Given the description of an element on the screen output the (x, y) to click on. 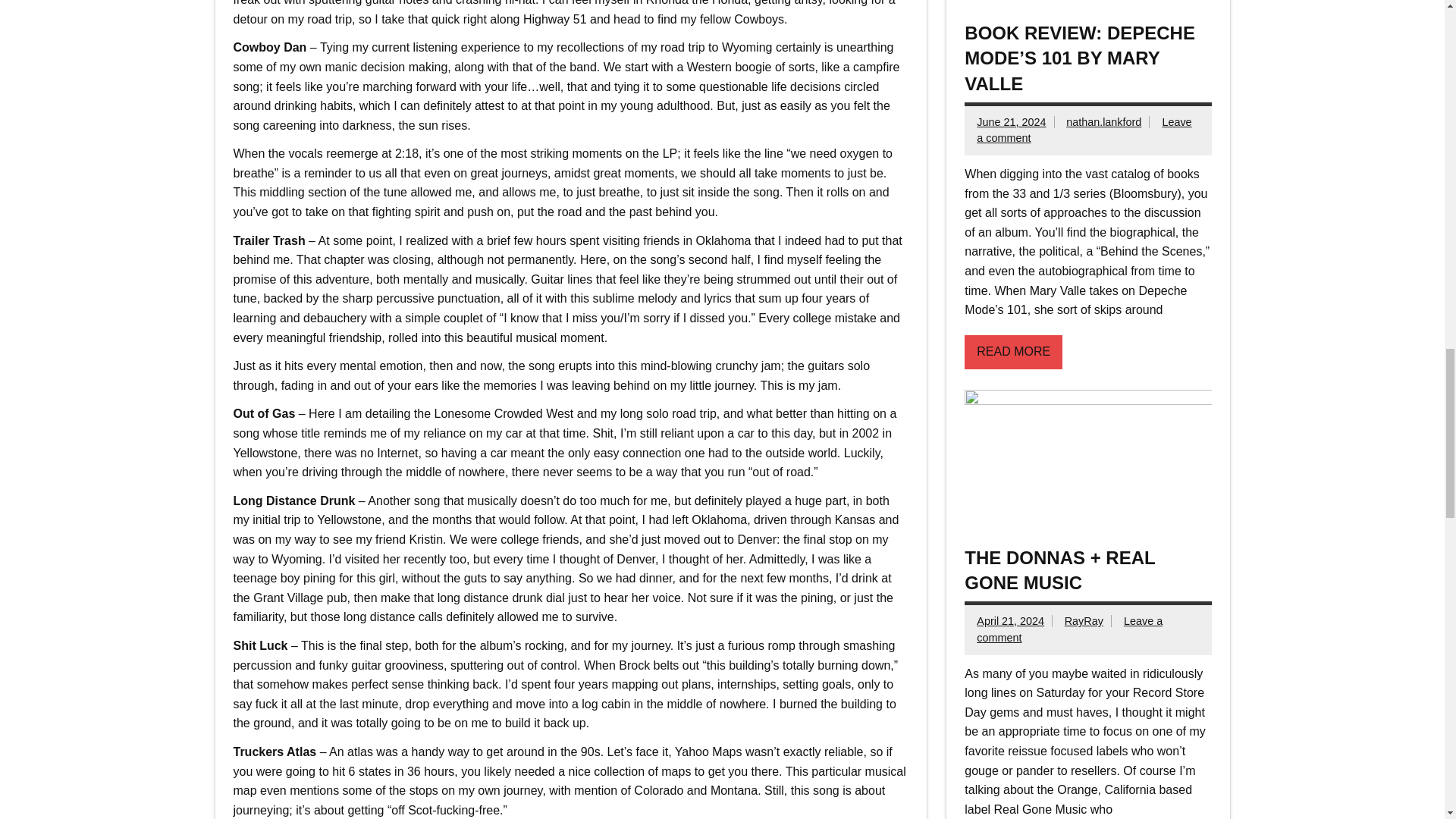
Leave a comment (1083, 130)
RayRay (1083, 621)
11:06 am (1010, 121)
June 21, 2024 (1010, 121)
nathan.lankford (1103, 121)
April 21, 2024 (1009, 621)
READ MORE (1012, 351)
View all posts by nathan.lankford (1103, 121)
